Given the description of an element on the screen output the (x, y) to click on. 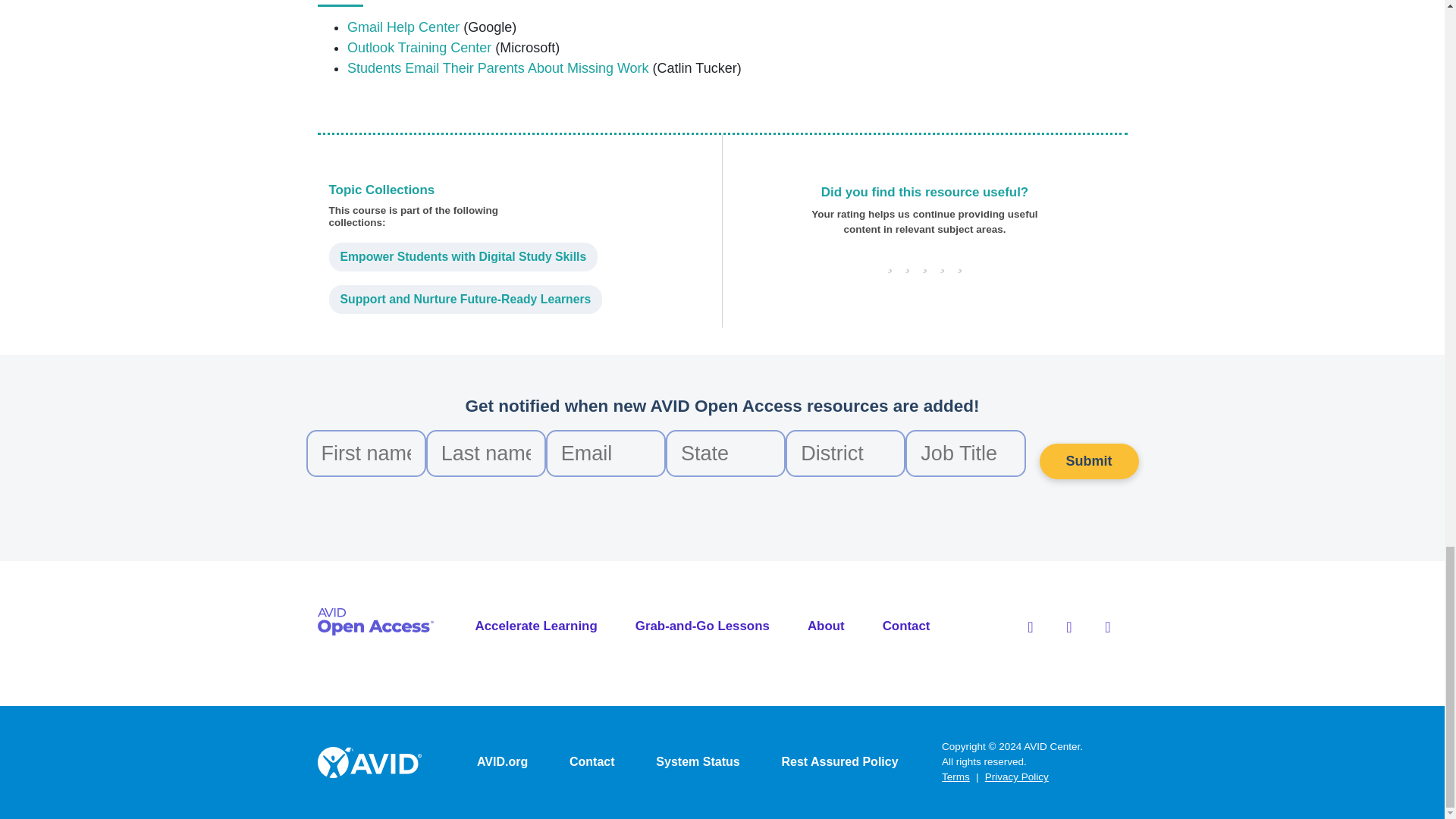
Instagram (1107, 627)
Facebook (1030, 627)
Twitter (1069, 627)
Submit (1088, 461)
